Given the description of an element on the screen output the (x, y) to click on. 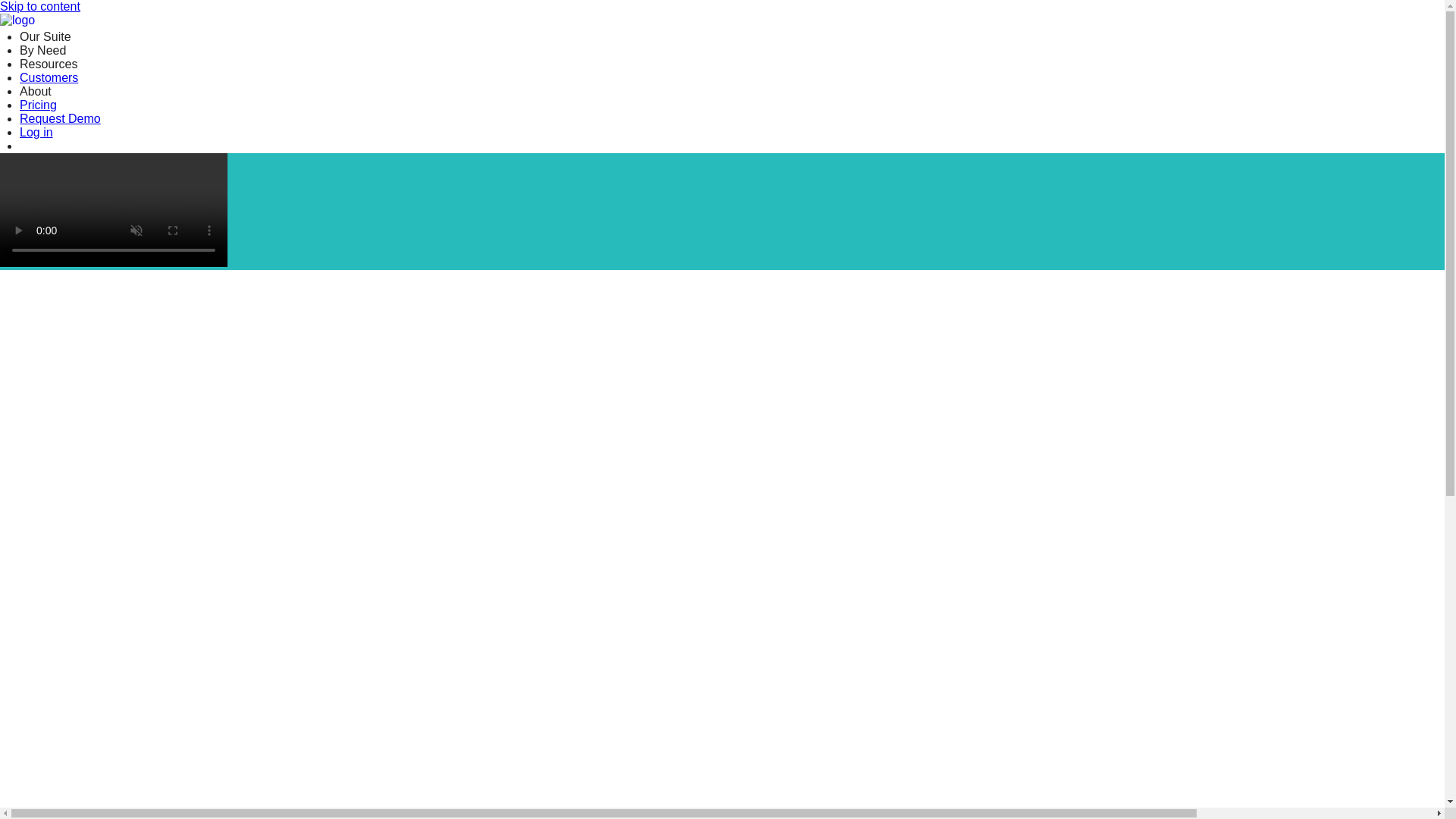
Skip to content (40, 6)
Customers (49, 77)
Log in (36, 132)
Request Demo (60, 118)
Pricing (38, 104)
